Given the description of an element on the screen output the (x, y) to click on. 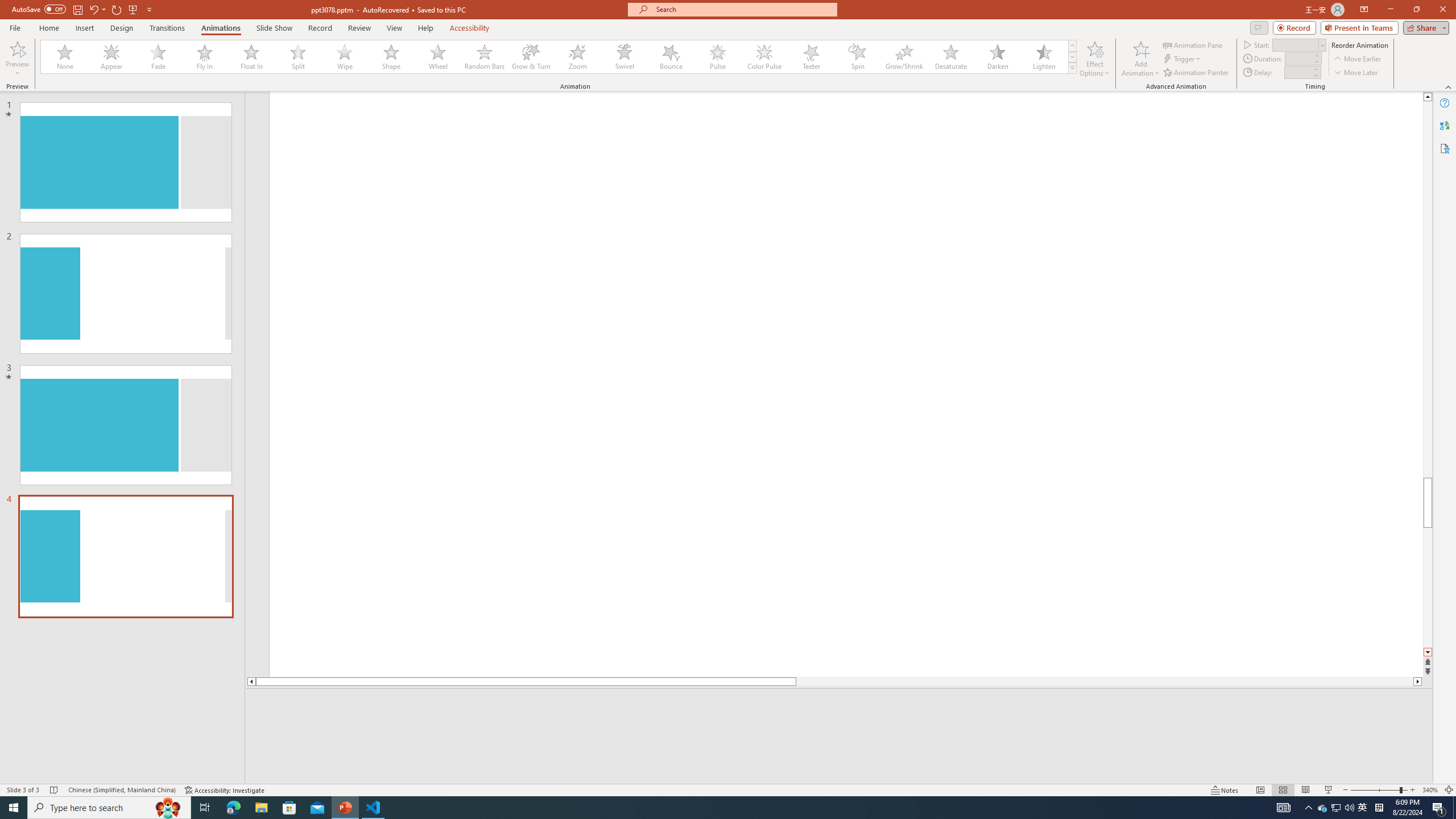
Spin (857, 56)
None (65, 56)
Animation Delay (1297, 72)
Bounce (670, 56)
